Given the description of an element on the screen output the (x, y) to click on. 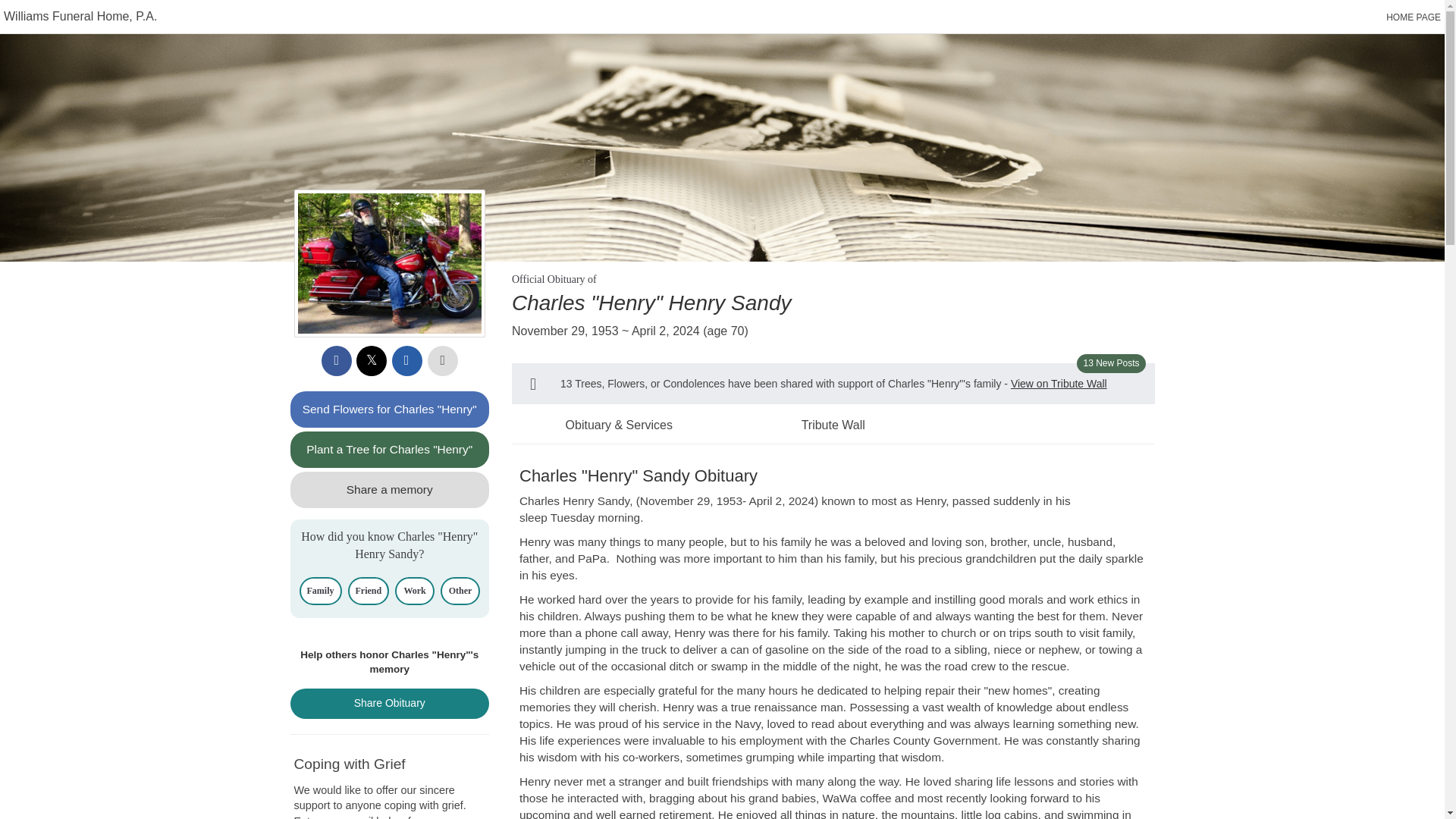
Send Flowers for Charles "Henry" (389, 409)
Williams Funeral Home, P.A. (80, 15)
Plant a Tree for Charles "Henry" (389, 449)
Share to Facebook (336, 360)
Share Obituary (389, 703)
HOME PAGE (1413, 17)
Share a memory (389, 489)
Share on X (371, 360)
Printable copy (443, 360)
Share via email (406, 360)
View on Tribute Wall (1058, 383)
